Given the description of an element on the screen output the (x, y) to click on. 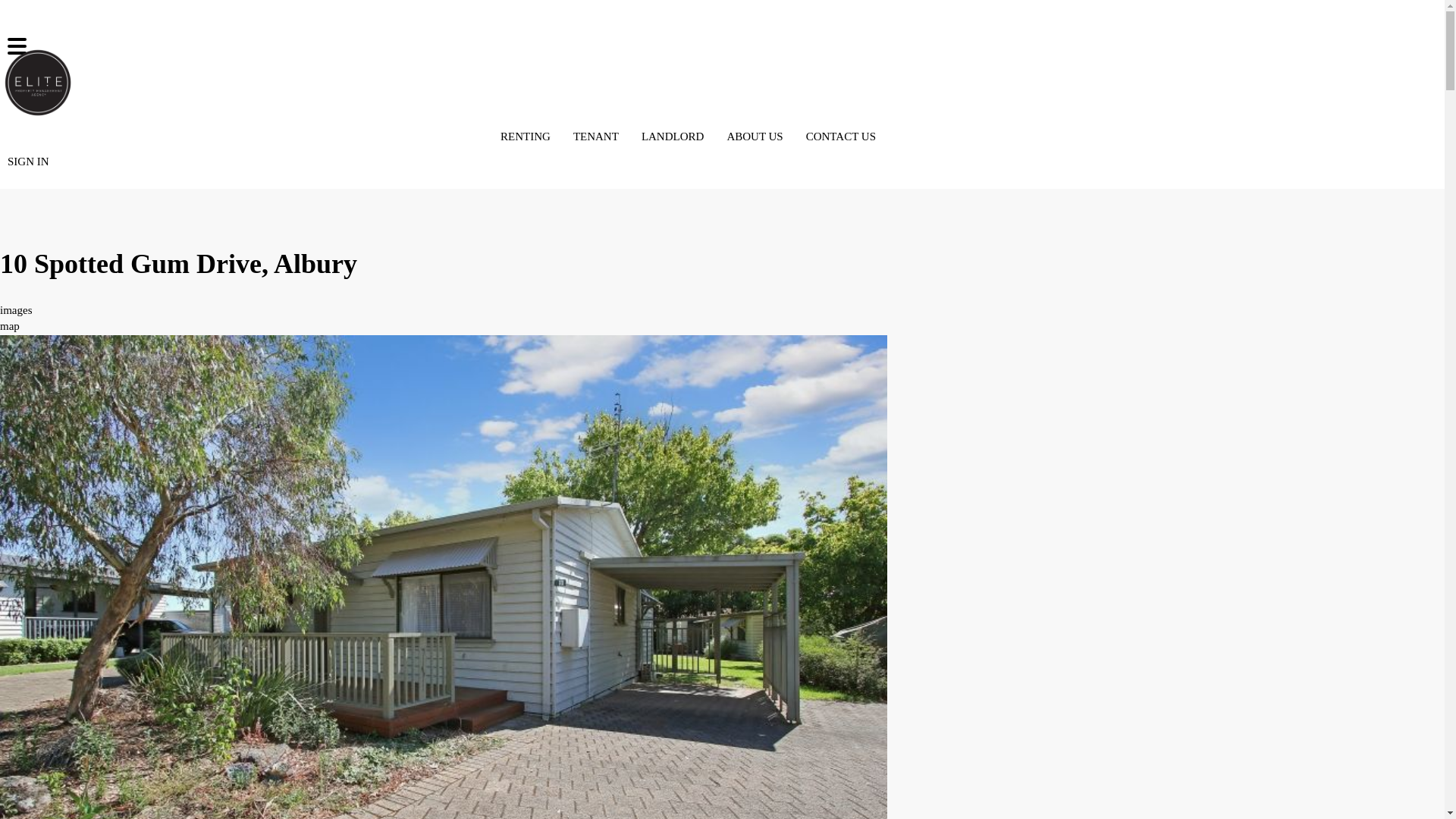
images Element type: text (16, 310)
TENANT Element type: text (595, 136)
CONTACT US Element type: text (840, 136)
map Element type: text (9, 326)
ABOUT US Element type: text (754, 136)
SIGN IN Element type: text (28, 161)
LANDLORD Element type: text (672, 136)
RENTING Element type: text (525, 136)
